Given the description of an element on the screen output the (x, y) to click on. 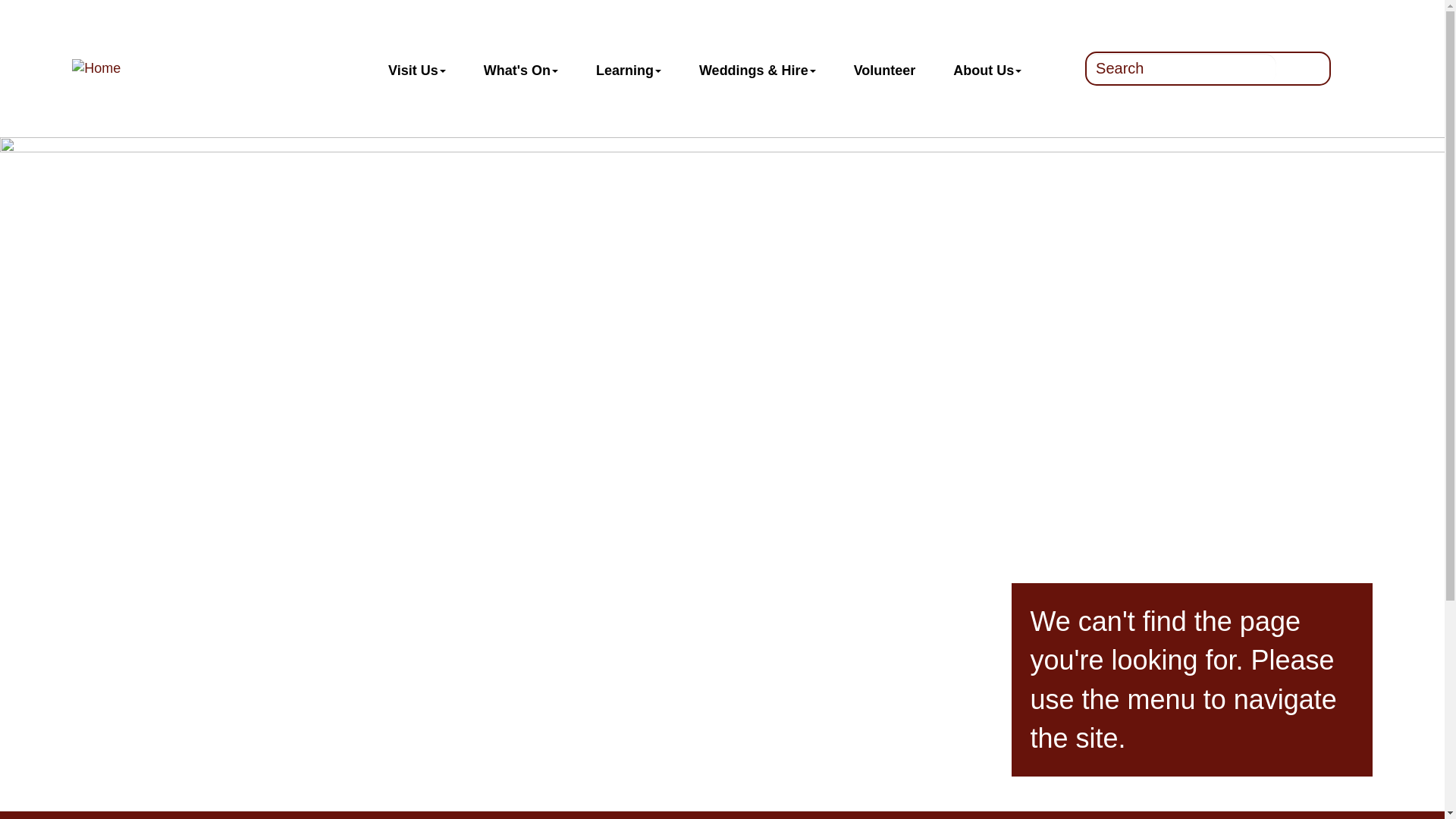
Enter the terms you wish to search for. (1181, 68)
Visit Us (416, 67)
Volunteer (884, 68)
Home (173, 68)
What's On (520, 67)
About Us (987, 67)
Learning (627, 67)
